Given the description of an element on the screen output the (x, y) to click on. 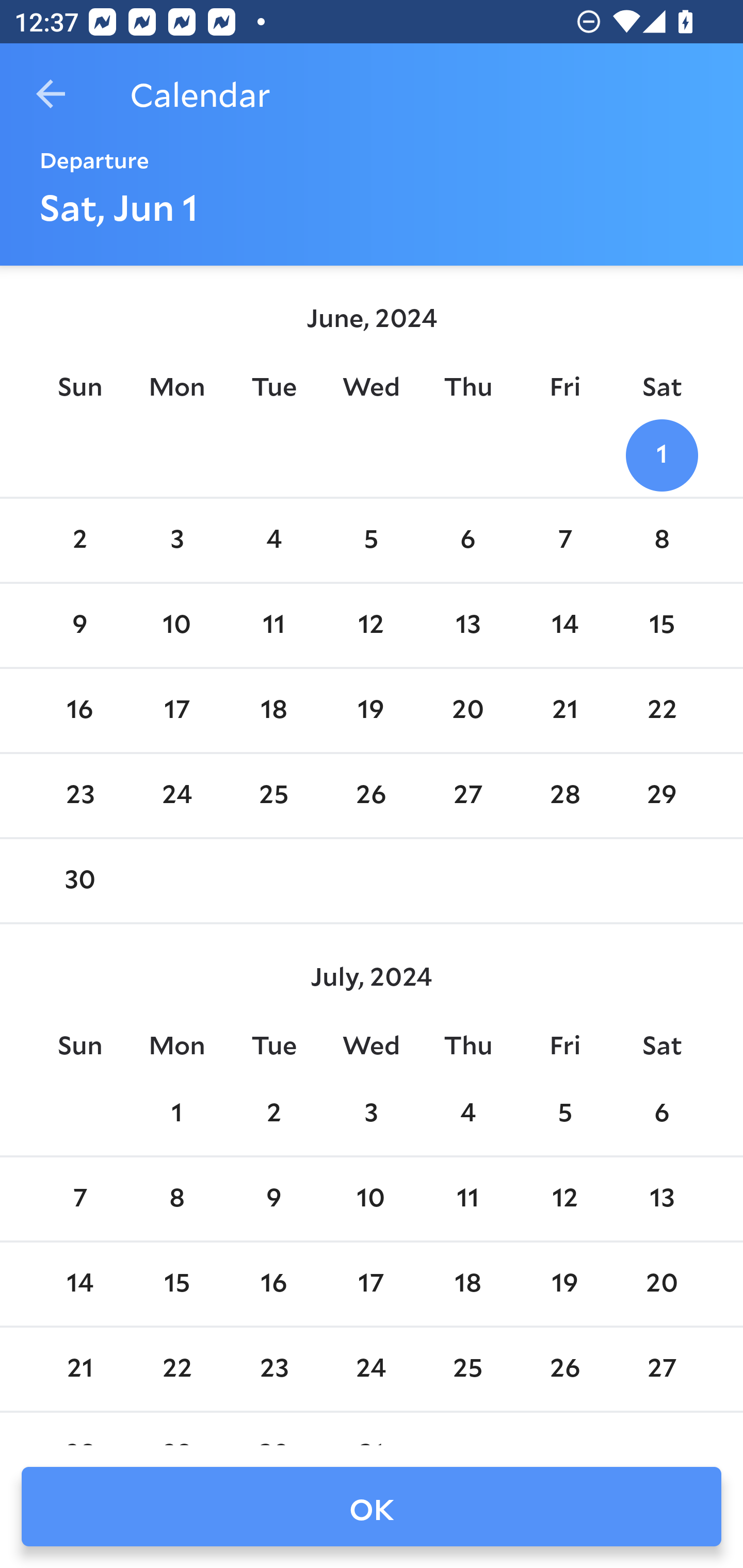
Navigate up (50, 93)
1 (661, 454)
2 (79, 540)
3 (177, 540)
4 (273, 540)
5 (371, 540)
6 (467, 540)
7 (565, 540)
8 (661, 540)
9 (79, 625)
10 (177, 625)
11 (273, 625)
12 (371, 625)
13 (467, 625)
14 (565, 625)
15 (661, 625)
16 (79, 710)
17 (177, 710)
18 (273, 710)
19 (371, 710)
20 (467, 710)
21 (565, 710)
22 (661, 710)
23 (79, 796)
24 (177, 796)
25 (273, 796)
26 (371, 796)
27 (467, 796)
28 (565, 796)
29 (661, 796)
30 (79, 881)
1 (177, 1114)
2 (273, 1114)
3 (371, 1114)
4 (467, 1114)
5 (565, 1114)
6 (661, 1114)
7 (79, 1199)
8 (177, 1199)
9 (273, 1199)
10 (371, 1199)
11 (467, 1199)
12 (565, 1199)
13 (661, 1199)
14 (79, 1284)
15 (177, 1284)
16 (273, 1284)
17 (371, 1284)
18 (467, 1284)
19 (565, 1284)
20 (661, 1284)
21 (79, 1368)
22 (177, 1368)
23 (273, 1368)
24 (371, 1368)
25 (467, 1368)
26 (565, 1368)
27 (661, 1368)
OK (371, 1506)
